Given the description of an element on the screen output the (x, y) to click on. 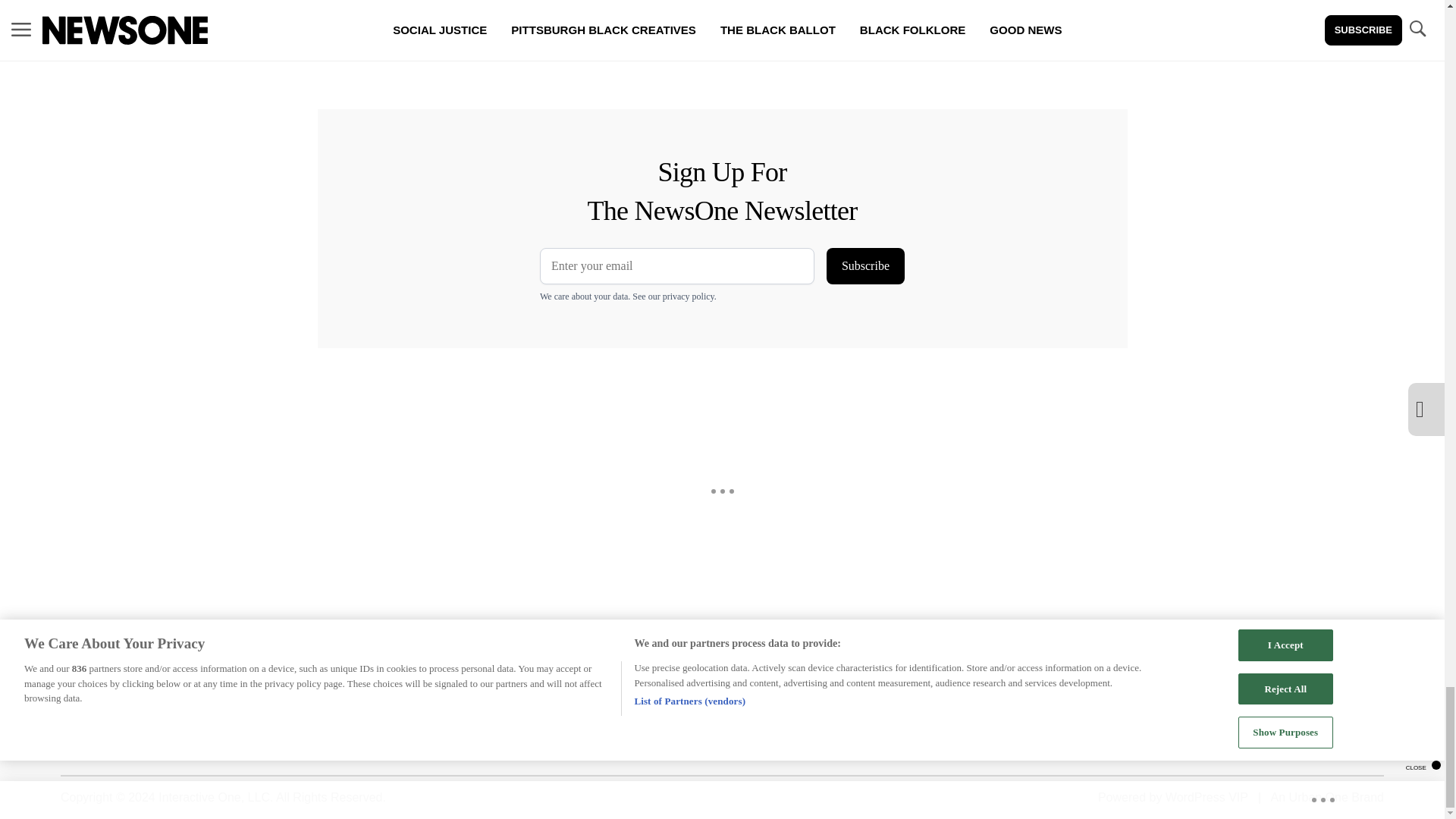
Vuukle Comments Widget (585, 54)
